Given the description of an element on the screen output the (x, y) to click on. 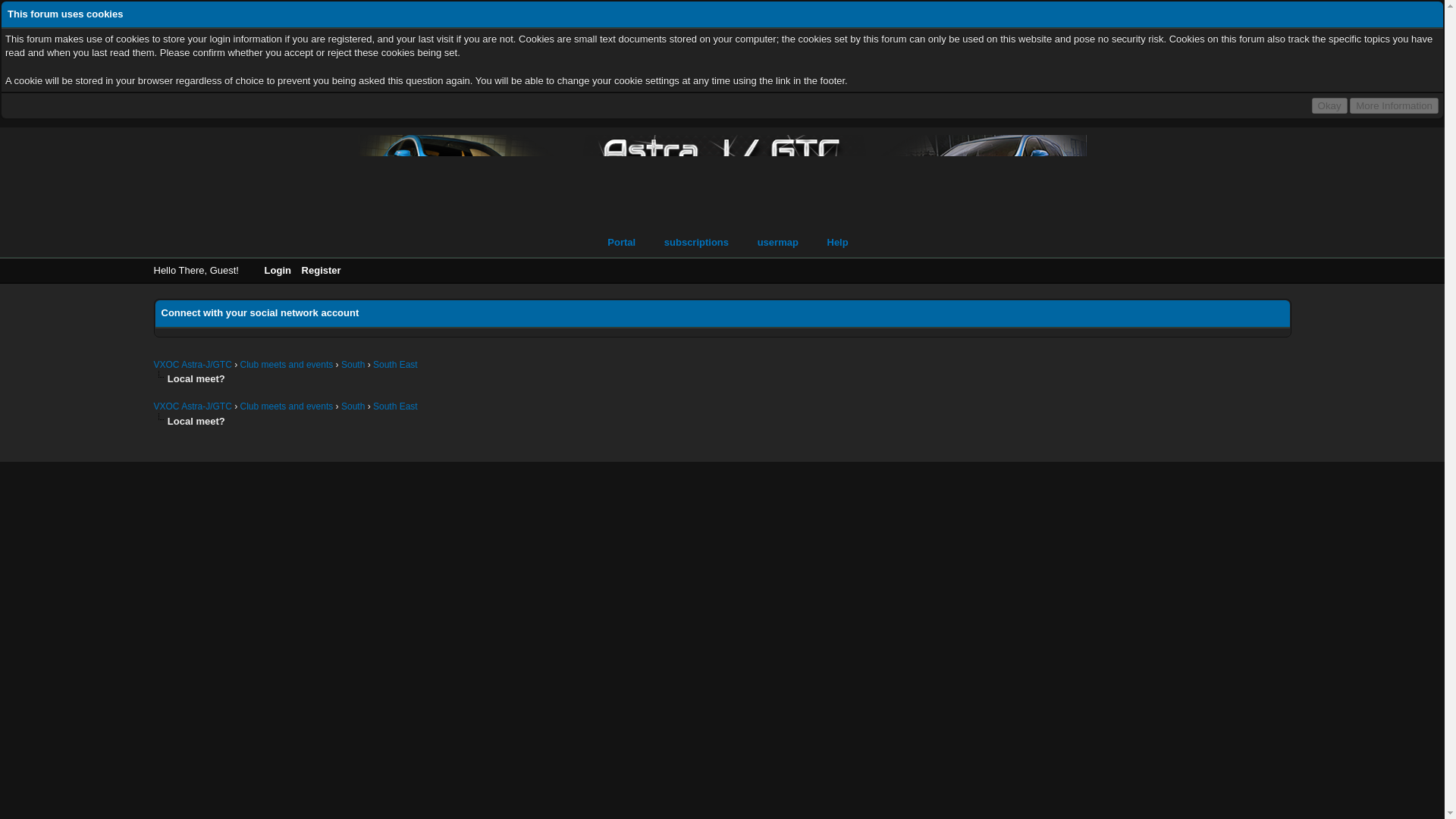
Okay (1329, 105)
Portal (613, 242)
Okay (1329, 105)
More Information (1393, 105)
South (352, 364)
subscriptions (689, 242)
South East (394, 406)
subscriptions (689, 242)
Club meets and events (286, 364)
Register (328, 270)
